Given the description of an element on the screen output the (x, y) to click on. 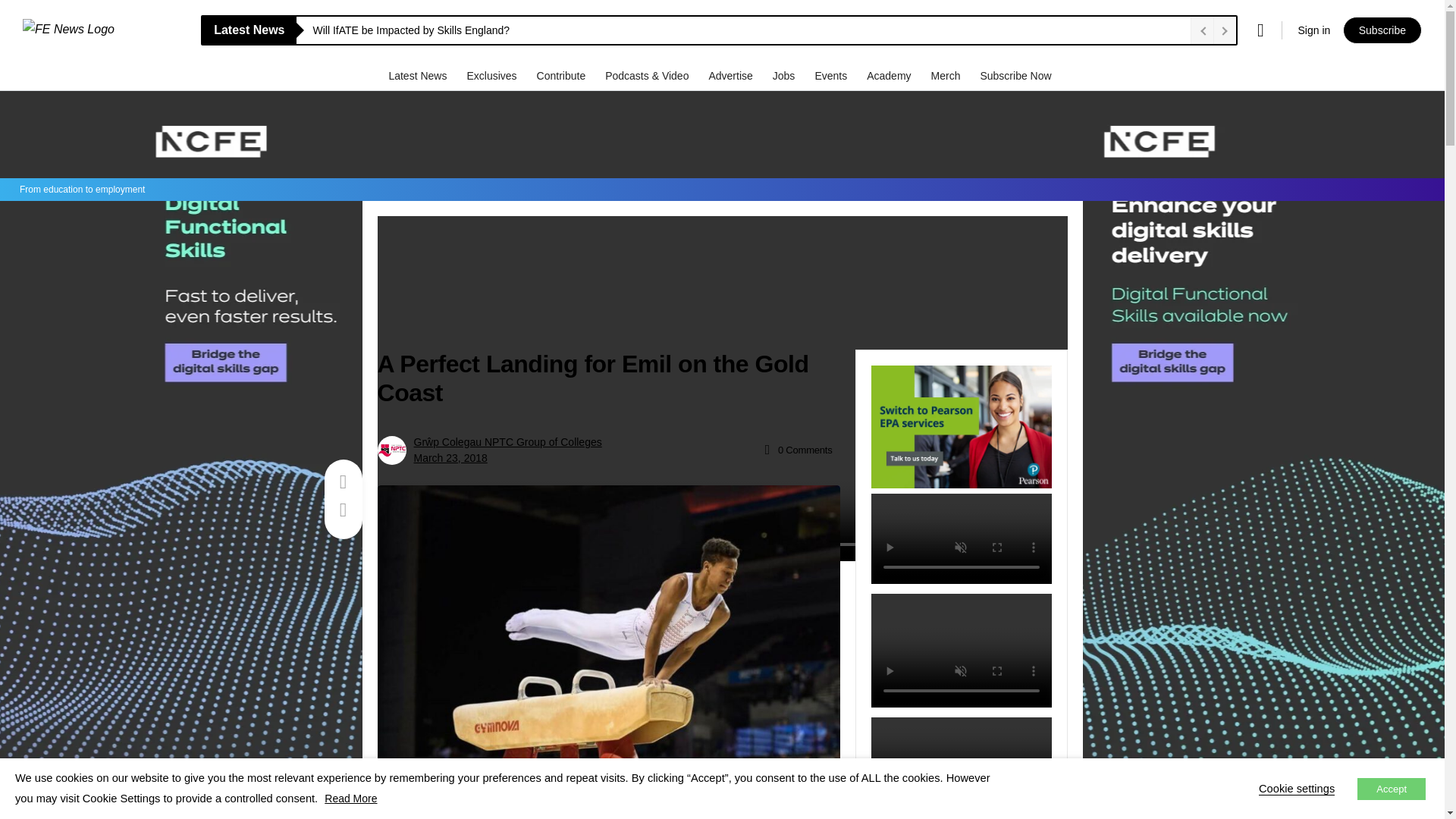
Latest News (419, 75)
Subscribe (1382, 30)
Sign in (1313, 30)
Will IfATE be Impacted by Skills England? (747, 30)
Exclusives (493, 75)
